Given the description of an element on the screen output the (x, y) to click on. 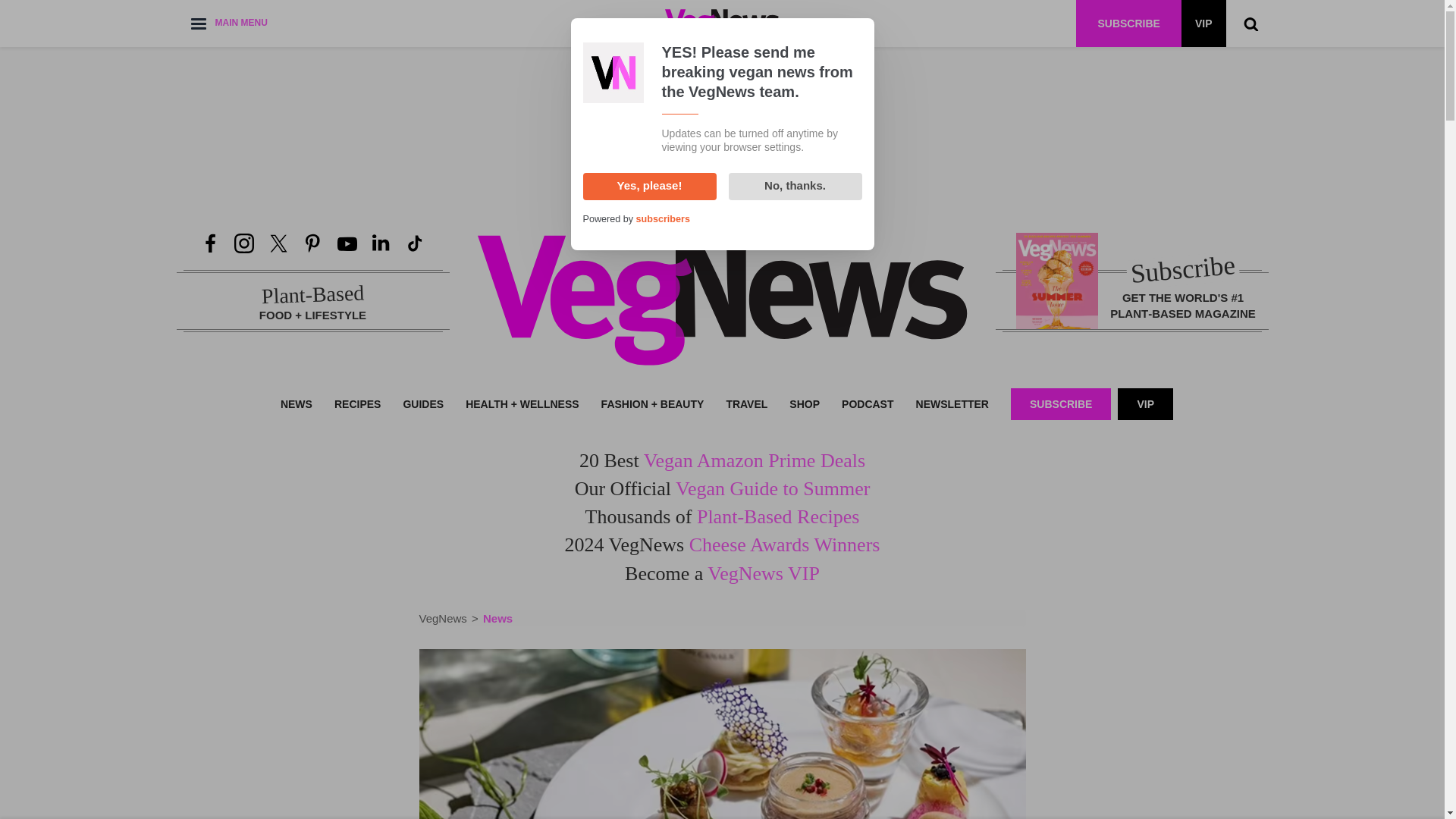
MAIN MENU (228, 23)
Show search (1250, 22)
Become a VIP (1202, 23)
